Given the description of an element on the screen output the (x, y) to click on. 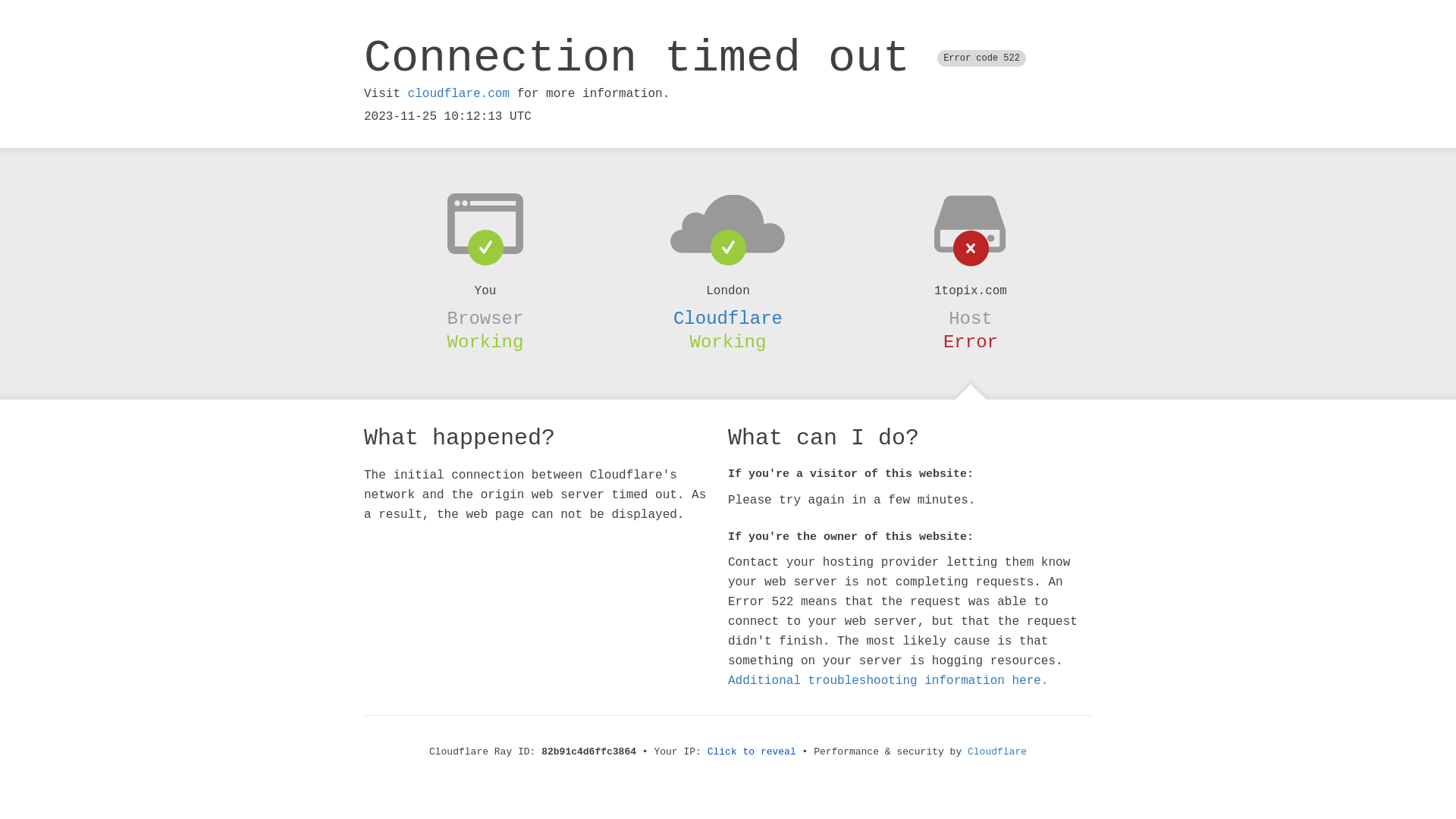
Click to reveal Element type: text (751, 751)
Cloudflare Element type: text (727, 318)
Additional troubleshooting information here. Element type: text (888, 680)
cloudflare.com Element type: text (458, 93)
Cloudflare Element type: text (996, 751)
